Given the description of an element on the screen output the (x, y) to click on. 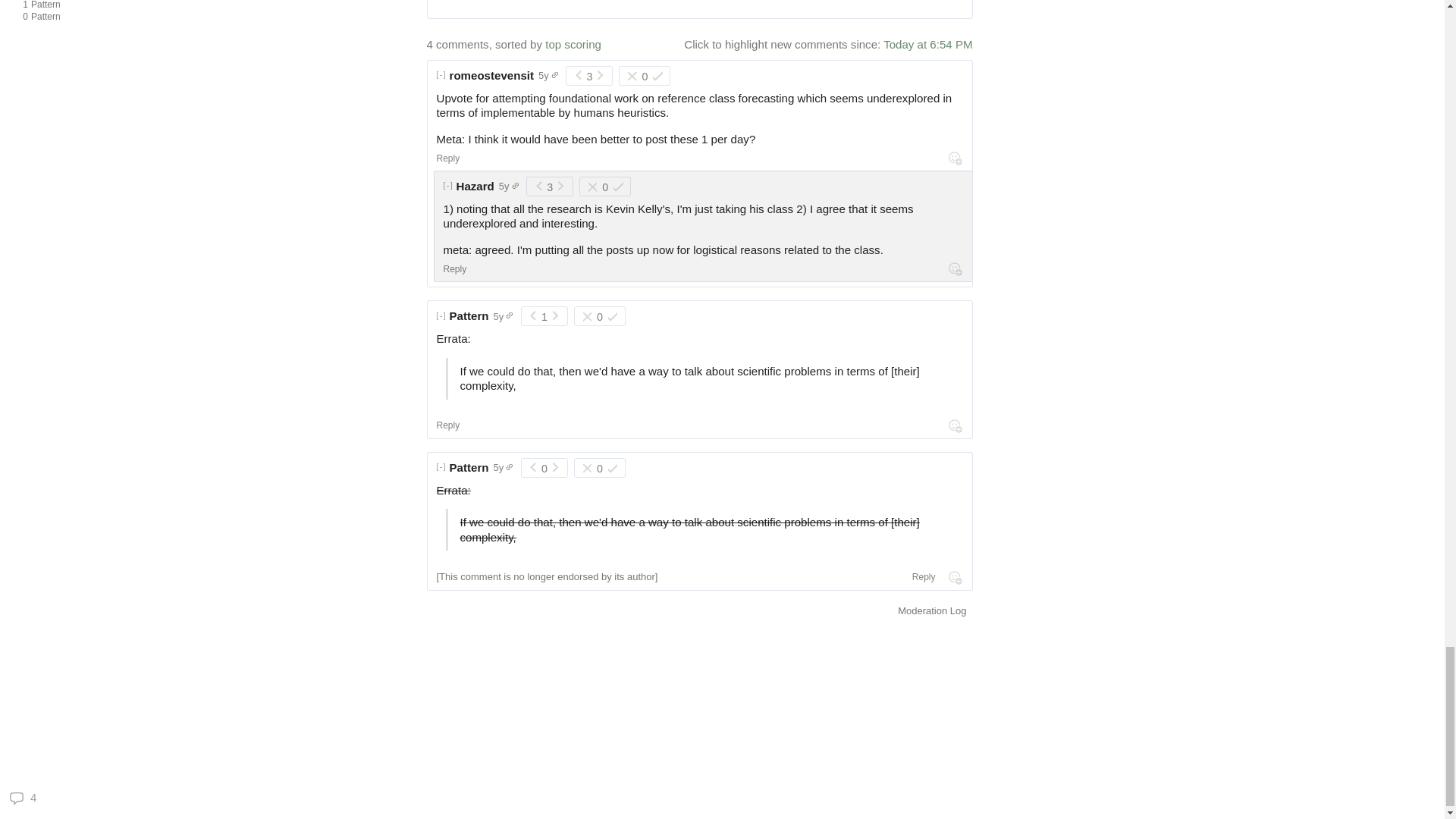
Hazard (109, 6)
SUBMIT (476, 185)
Today at 6:54 PM (928, 5)
romeostevensit (927, 43)
Reply (491, 74)
top scoring (448, 158)
